Given the description of an element on the screen output the (x, y) to click on. 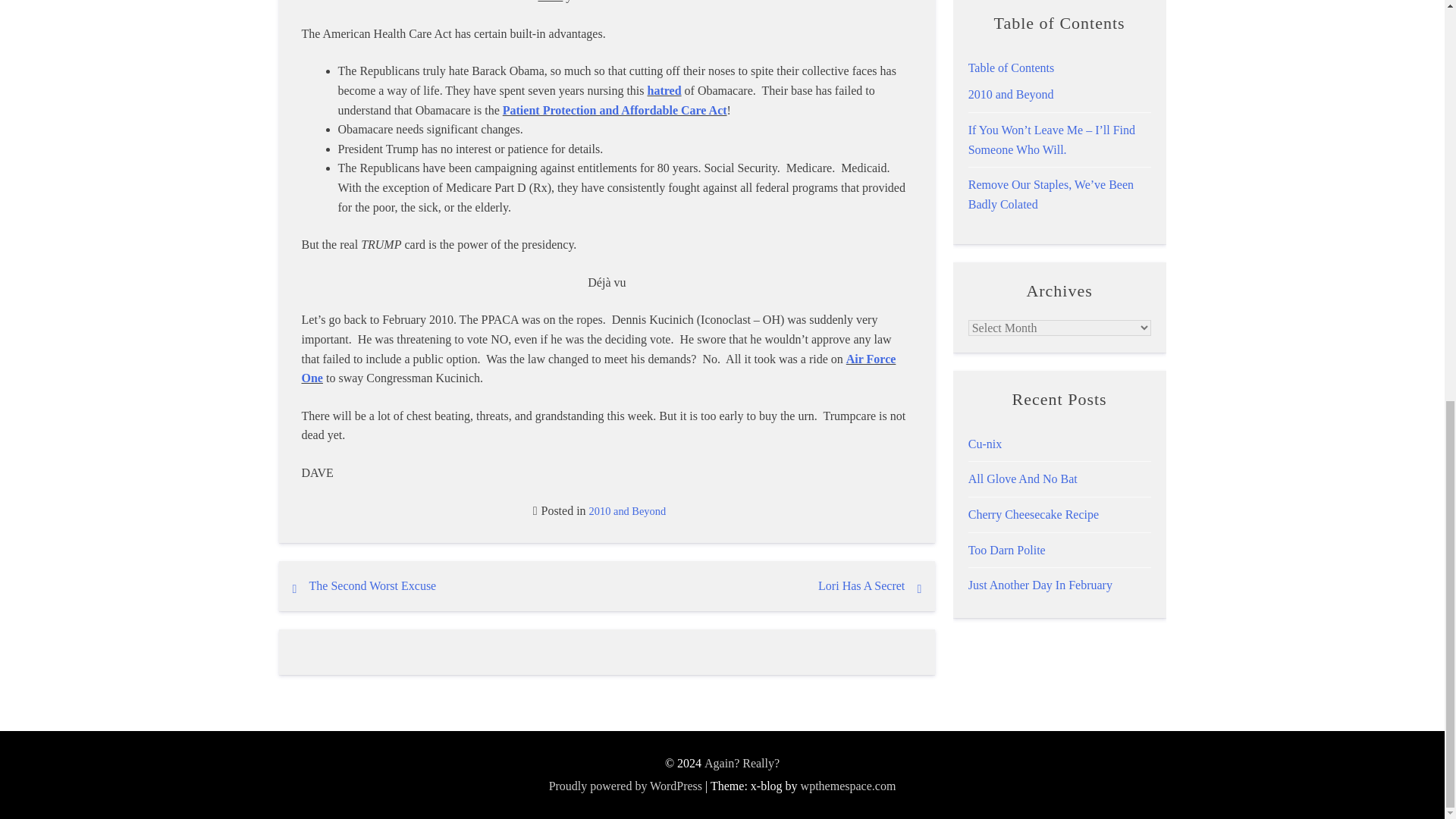
dead (549, 1)
Again? Really? (741, 763)
Patient Protection and Affordable Care Act (614, 110)
2010 and Beyond (627, 510)
Just Another Day In February (1040, 584)
Air Force One (598, 368)
Proudly powered by WordPress (624, 786)
The Second Worst Excuse (372, 585)
hatred (664, 90)
wpthemespace.com (848, 786)
